Given the description of an element on the screen output the (x, y) to click on. 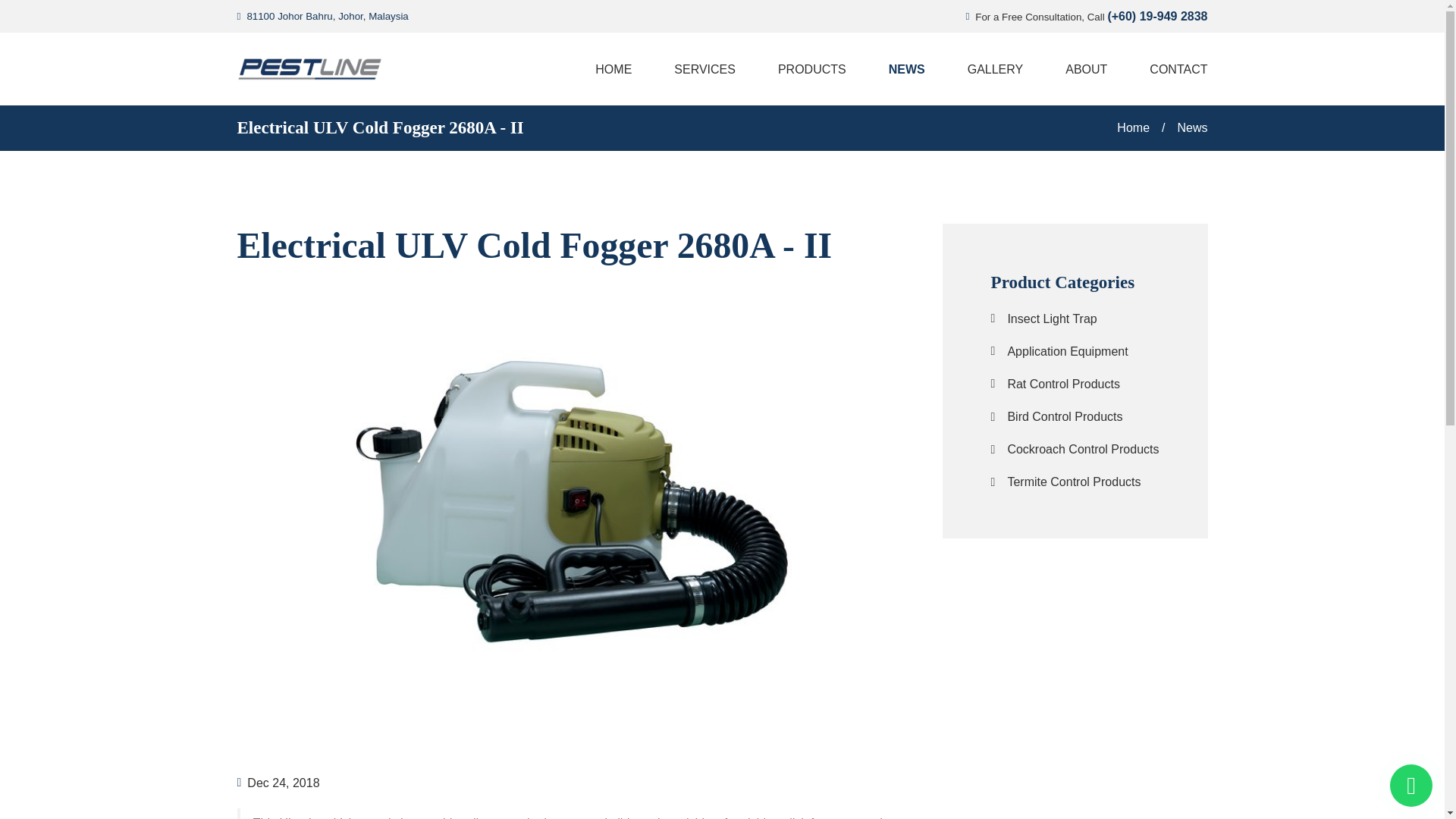
NEWS (906, 68)
Rat Control Products (1063, 383)
81100 Johor Bahru, Johor, Malaysia (326, 16)
CONTACT (1169, 68)
Application Equipment (378, 127)
Insect Light Trap (1066, 350)
News (1051, 318)
HOME (1184, 127)
Bird Control Products (612, 68)
